Given the description of an element on the screen output the (x, y) to click on. 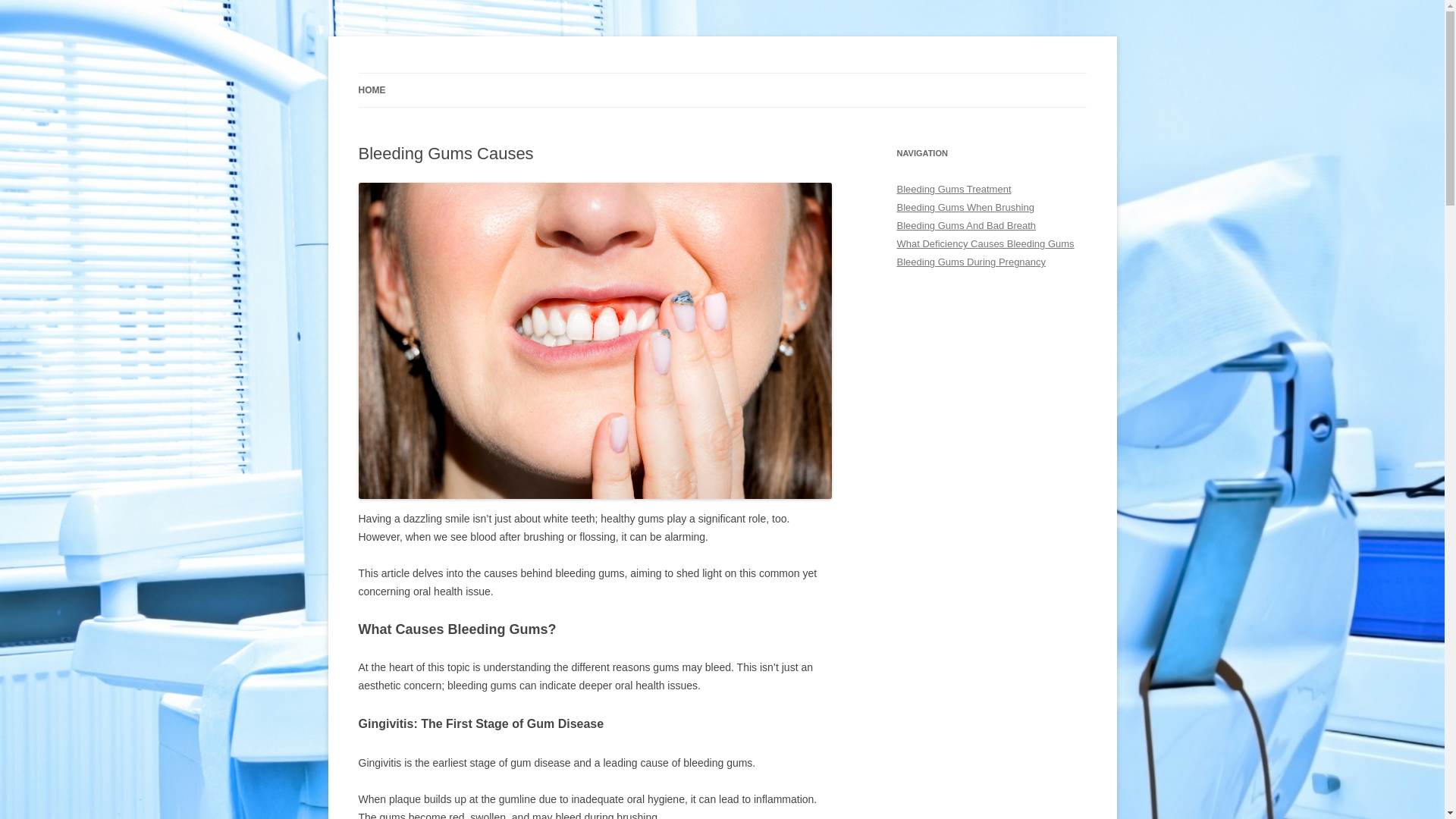
What Deficiency Causes Bleeding Gums Element type: text (984, 243)
Bleeding Gums And Bad Breath Element type: text (965, 225)
Bleeding Gums When Brushing Element type: text (964, 207)
Bleeding Gums Treatment Element type: text (953, 188)
Cure For Bleeding Gums Element type: text (473, 72)
Skip to content Element type: text (721, 72)
HOME Element type: text (371, 89)
Bleeding Gums During Pregnancy Element type: text (970, 261)
